Given the description of an element on the screen output the (x, y) to click on. 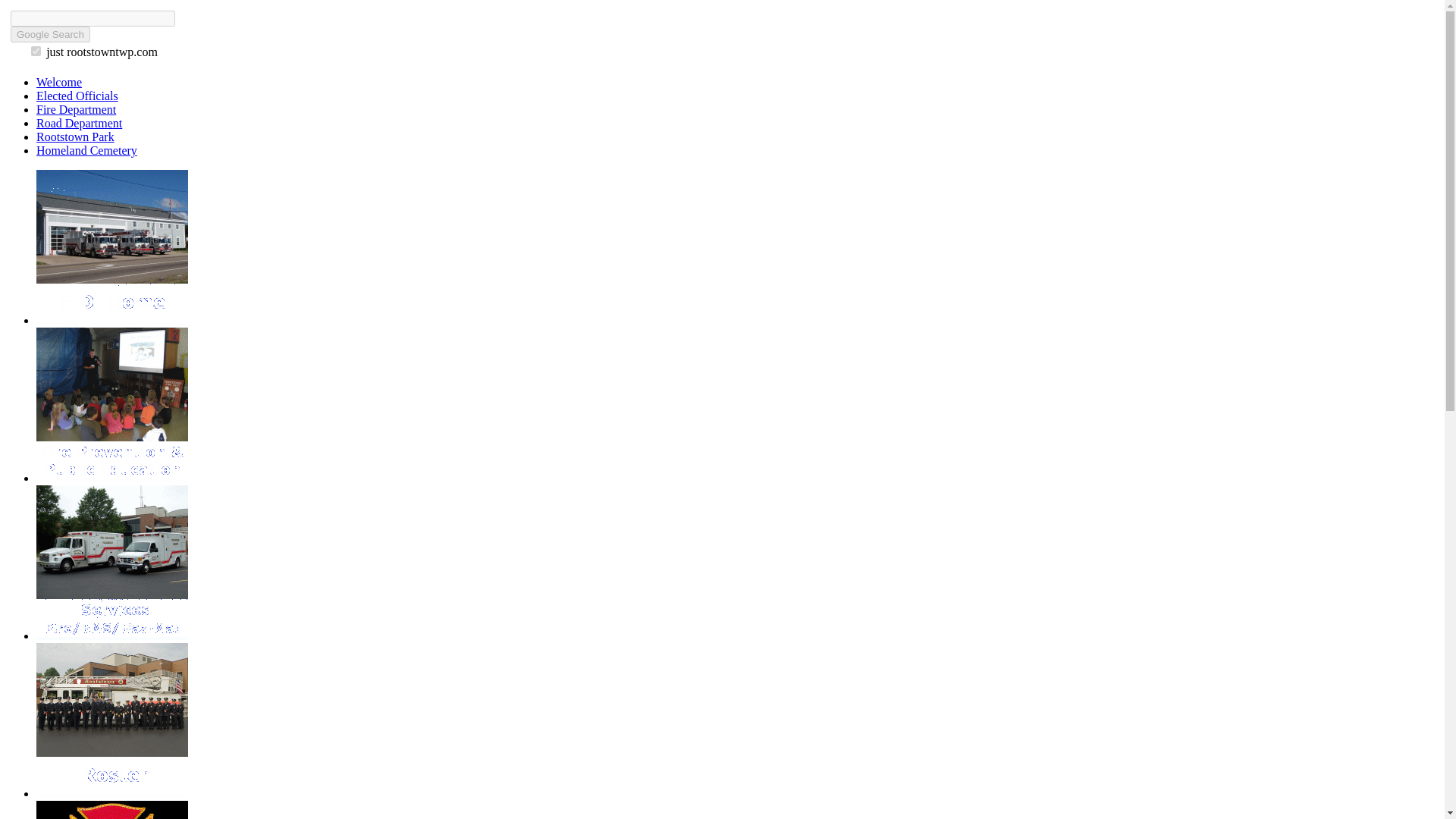
Fire Department (76, 109)
Elected Officials (76, 95)
Homeland Cemetery (86, 150)
Google Search (50, 34)
Welcome (58, 82)
Google Search (50, 34)
Rootstown Park (75, 136)
rootstowntwp.com (35, 50)
Road Department (79, 123)
